Given the description of an element on the screen output the (x, y) to click on. 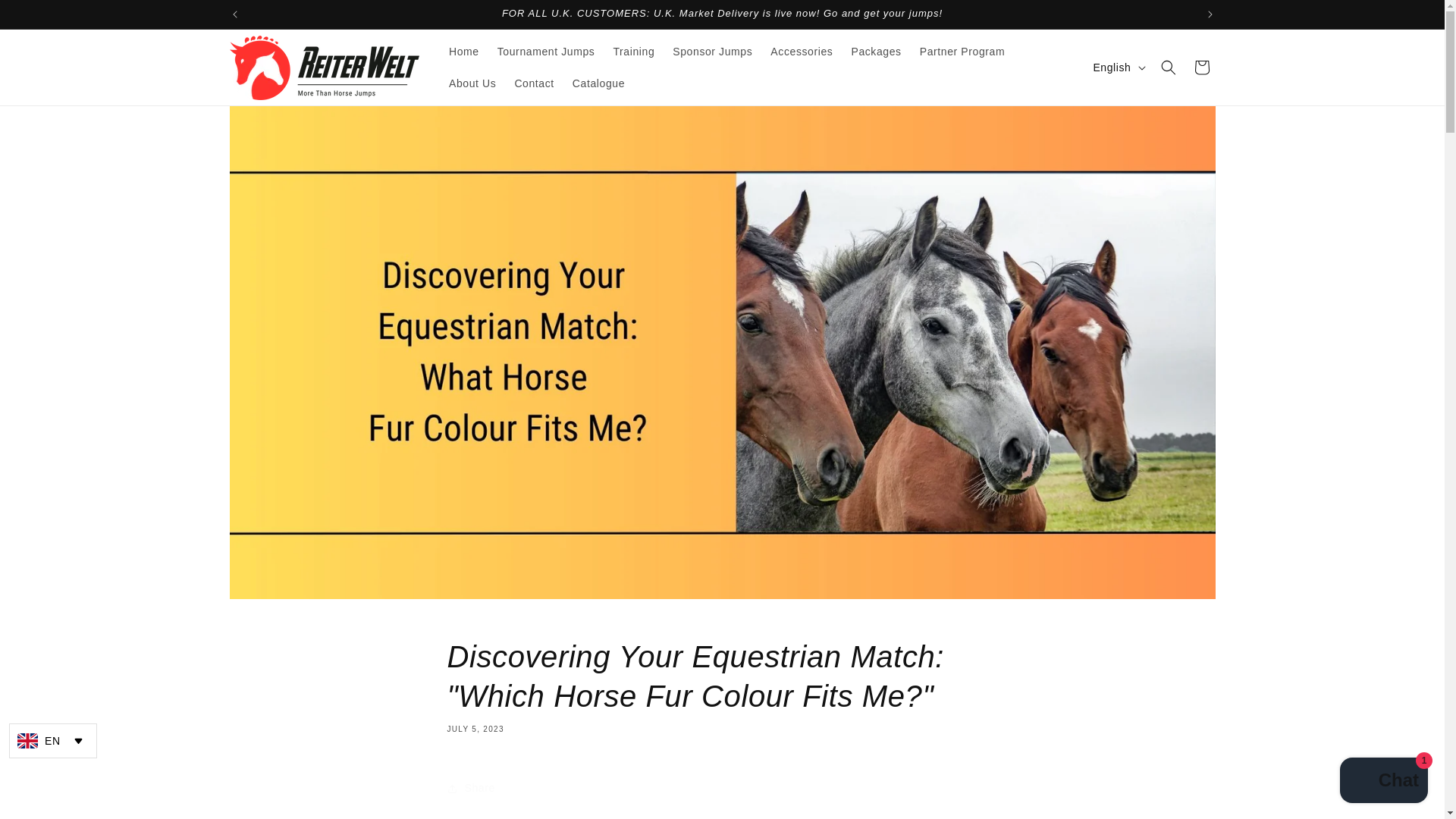
Share (721, 788)
Tournament Jumps (545, 51)
Packages (875, 51)
Training (633, 51)
Accessories (801, 51)
About Us (472, 83)
Catalogue (598, 83)
Contact (533, 83)
Partner Program (962, 51)
Home (463, 51)
English (1117, 67)
Shopify online store chat (1383, 781)
Cart (1201, 67)
Sponsor Jumps (712, 51)
